Given the description of an element on the screen output the (x, y) to click on. 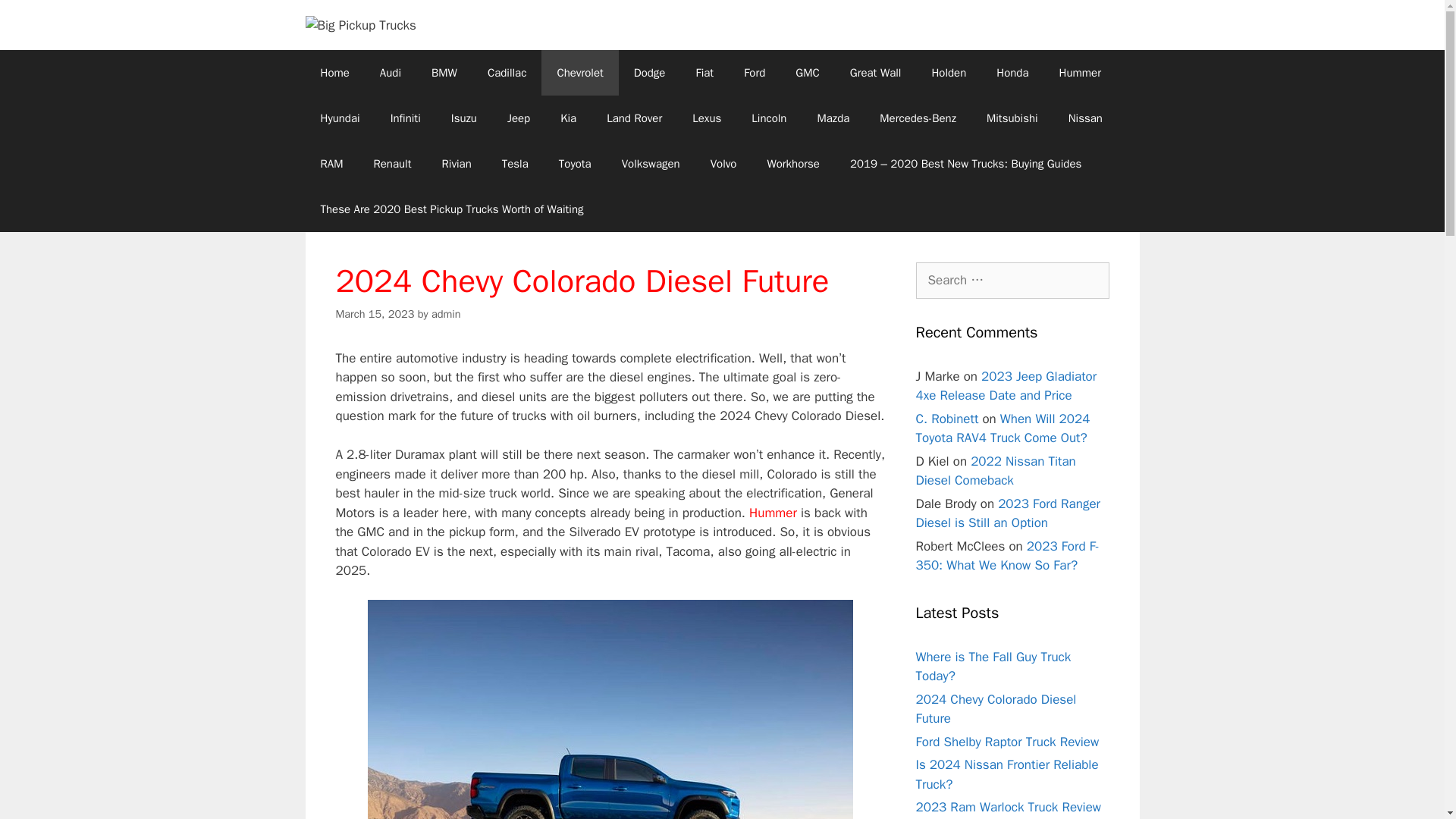
admin (445, 314)
Tesla (514, 163)
Nissan (1085, 117)
Holden (948, 72)
Dodge (649, 72)
BMW (443, 72)
Kia (567, 117)
Land Rover (634, 117)
Rivian (456, 163)
Honda (1012, 72)
